Given the description of an element on the screen output the (x, y) to click on. 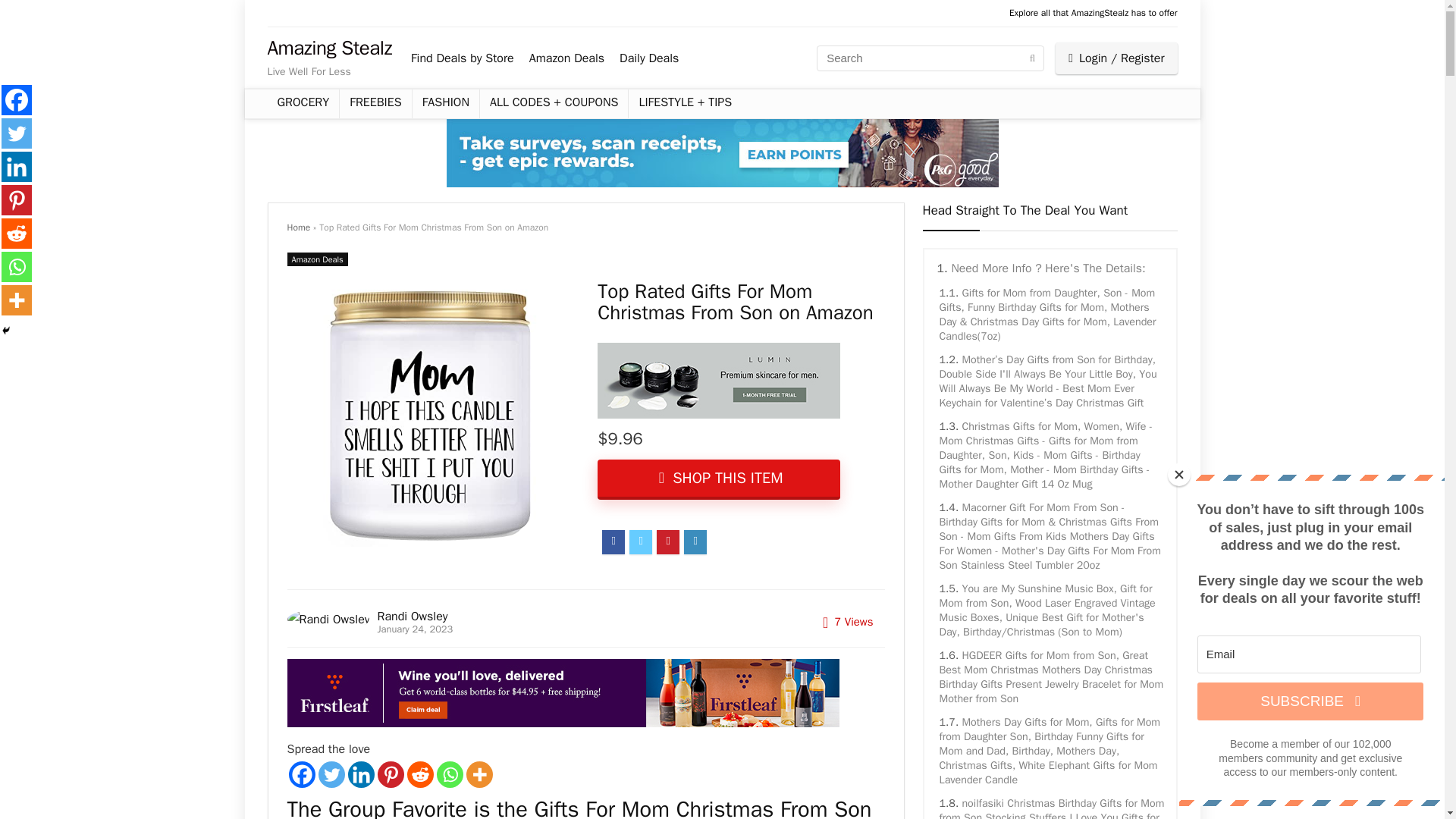
Linkedin (360, 774)
Whatsapp (449, 774)
Randi Owsley (411, 616)
SUBSCRIBE (1309, 701)
FREEBIES (374, 103)
Twitter (331, 774)
SHOP THIS ITEM (718, 479)
FASHION (445, 103)
Facebook (301, 774)
GROCERY (302, 103)
View all posts in Amazon Deals (316, 259)
Daily Deals (649, 57)
Home (298, 227)
Pinterest (390, 774)
More (478, 774)
